Given the description of an element on the screen output the (x, y) to click on. 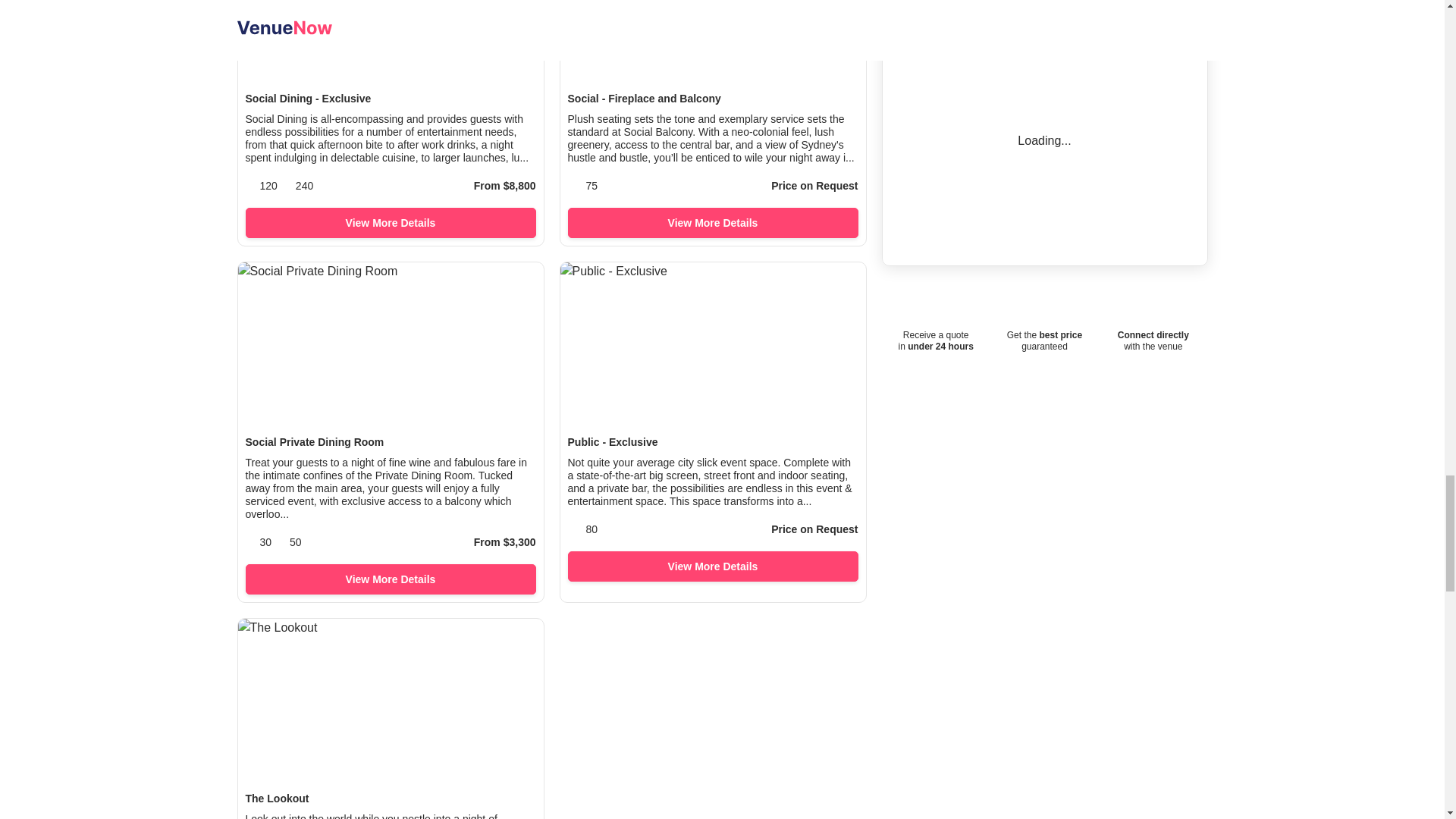
View More Details (712, 223)
Add Social Private Dining Room space to wishlist (515, 289)
Public - Exclusive (712, 441)
View More Details (390, 579)
Add Public - Exclusive space to wishlist (838, 289)
Add The Lookout space to wishlist (515, 645)
Social - Fireplace and Balcony (712, 98)
Social - Fireplace and Balcony (712, 98)
The Lookout (390, 798)
Social Private Dining Room (390, 441)
Social Private Dining Room (390, 441)
Social Dining - Exclusive (390, 98)
Public -  Exclusive (712, 441)
The Lookout (390, 798)
View More Details (712, 566)
